Given the description of an element on the screen output the (x, y) to click on. 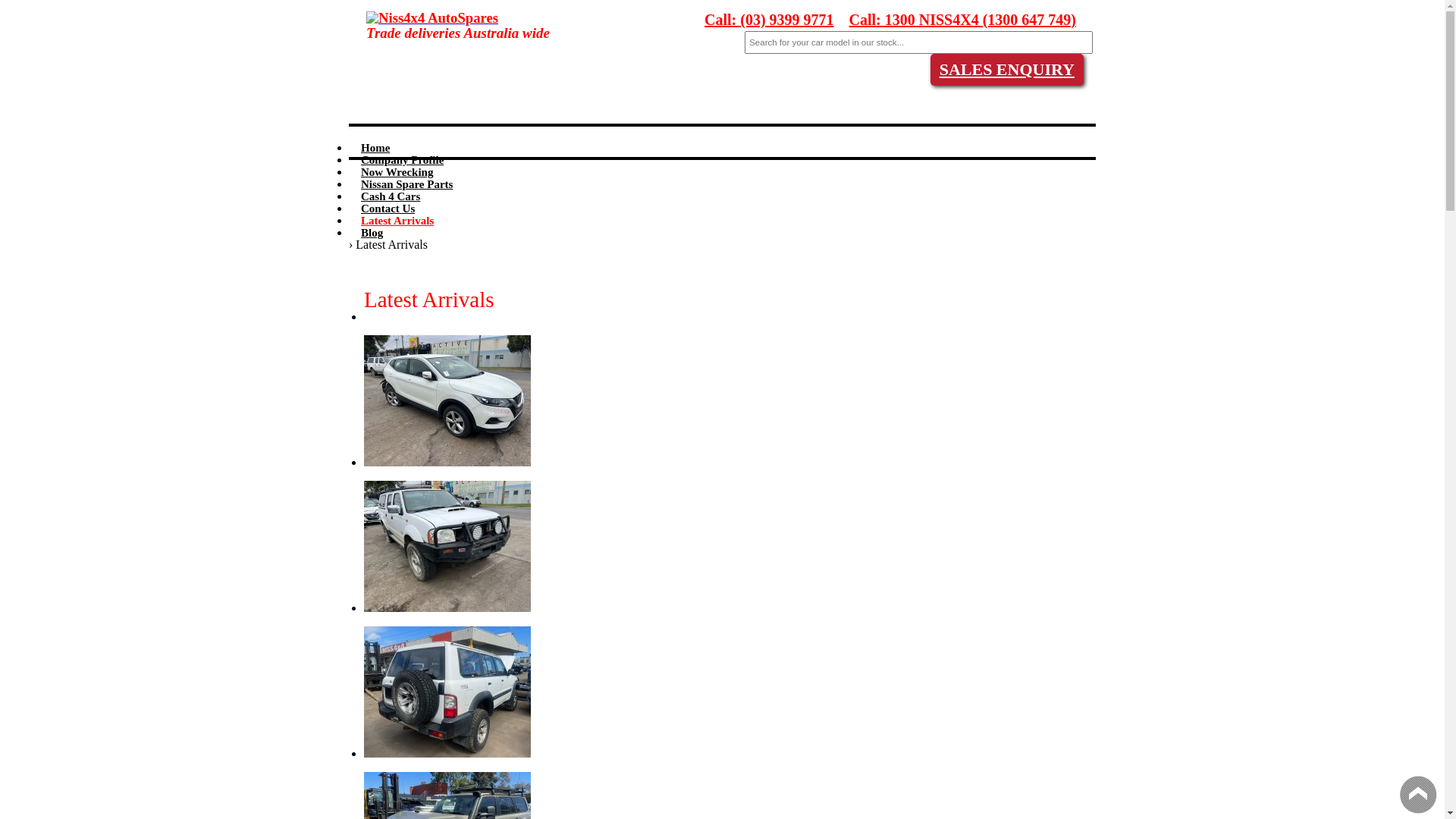
Call: (03) 9399 9771 Element type: text (768, 21)
Now Wrecking Element type: text (391, 171)
Call: 1300 NISS4X4 (1300 647 749) Element type: text (962, 21)
Latest Arrivals Element type: text (391, 220)
Contact Us Element type: text (381, 208)
Nissan Spare Parts Element type: text (400, 183)
SALES ENQUIRY Element type: text (1006, 68)
Blog Element type: text (365, 232)
Cash 4 Cars Element type: text (384, 196)
Company Profile Element type: text (396, 159)
Home Element type: text (369, 147)
